Given the description of an element on the screen output the (x, y) to click on. 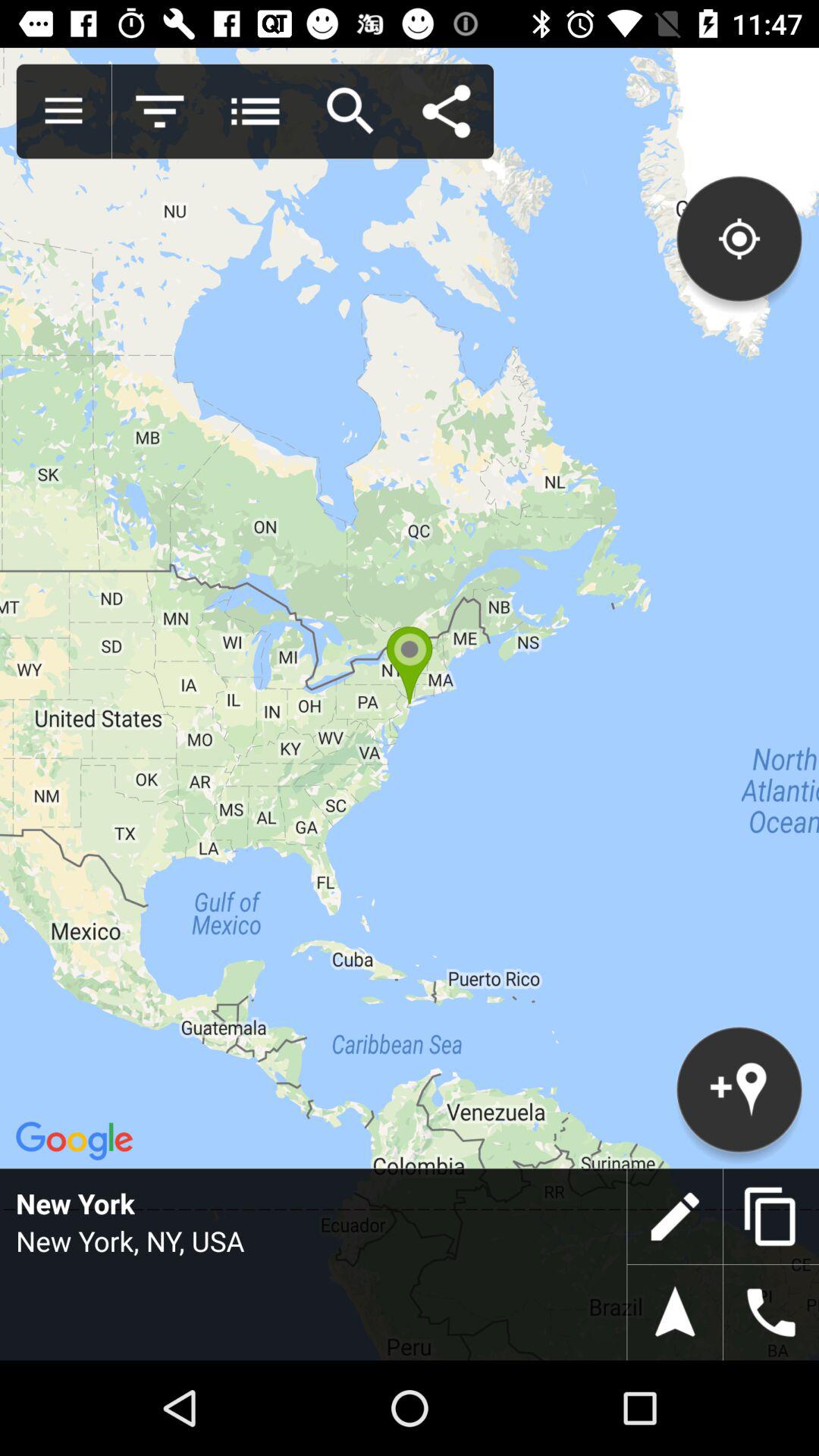
snap to currect position (674, 1312)
